Given the description of an element on the screen output the (x, y) to click on. 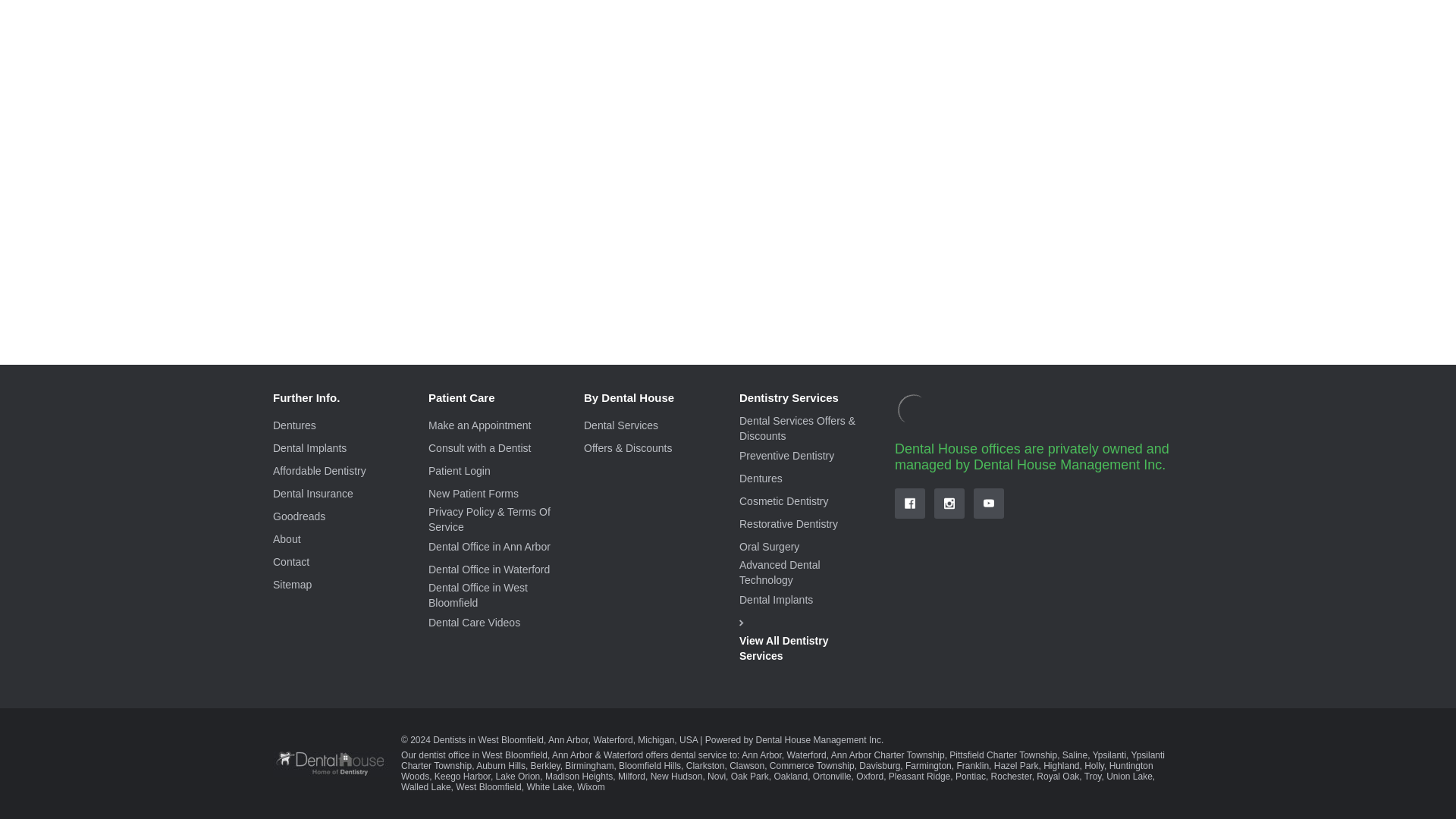
Dentist in Birmingham, MI (588, 765)
Dentist in Pittsfield Charter Township, MI (1003, 755)
Dentist in Ypsilanti Charter Township, MI (782, 760)
Dentist in Ann Arbor Charter Township, MI (887, 755)
Dentist in Waterford, MI (807, 755)
Dentist in Auburn Hills, MI (500, 765)
Dentist in Berkley, MI (545, 765)
Dentist in Saline, MI (1074, 755)
Dentist in Clarkston, MI (705, 765)
Dentist in Bloomfield Hills, MI (649, 765)
Dentist in Ann Arbor, MI (761, 755)
Dentist in Ypsilanti, MI (1109, 755)
